Given the description of an element on the screen output the (x, y) to click on. 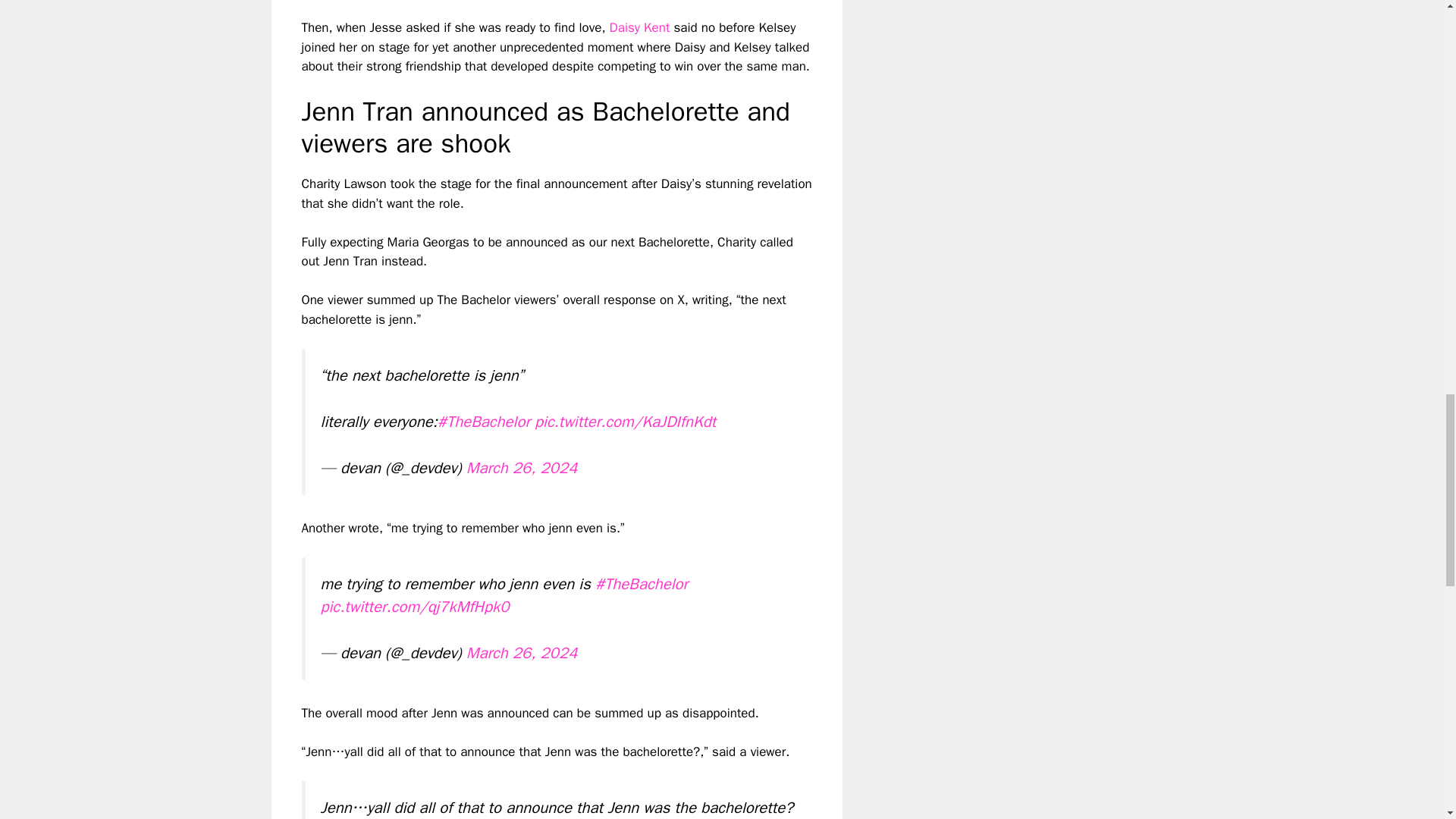
March 26, 2024 (521, 652)
Daisy Kent (642, 27)
March 26, 2024 (521, 467)
